Given the description of an element on the screen output the (x, y) to click on. 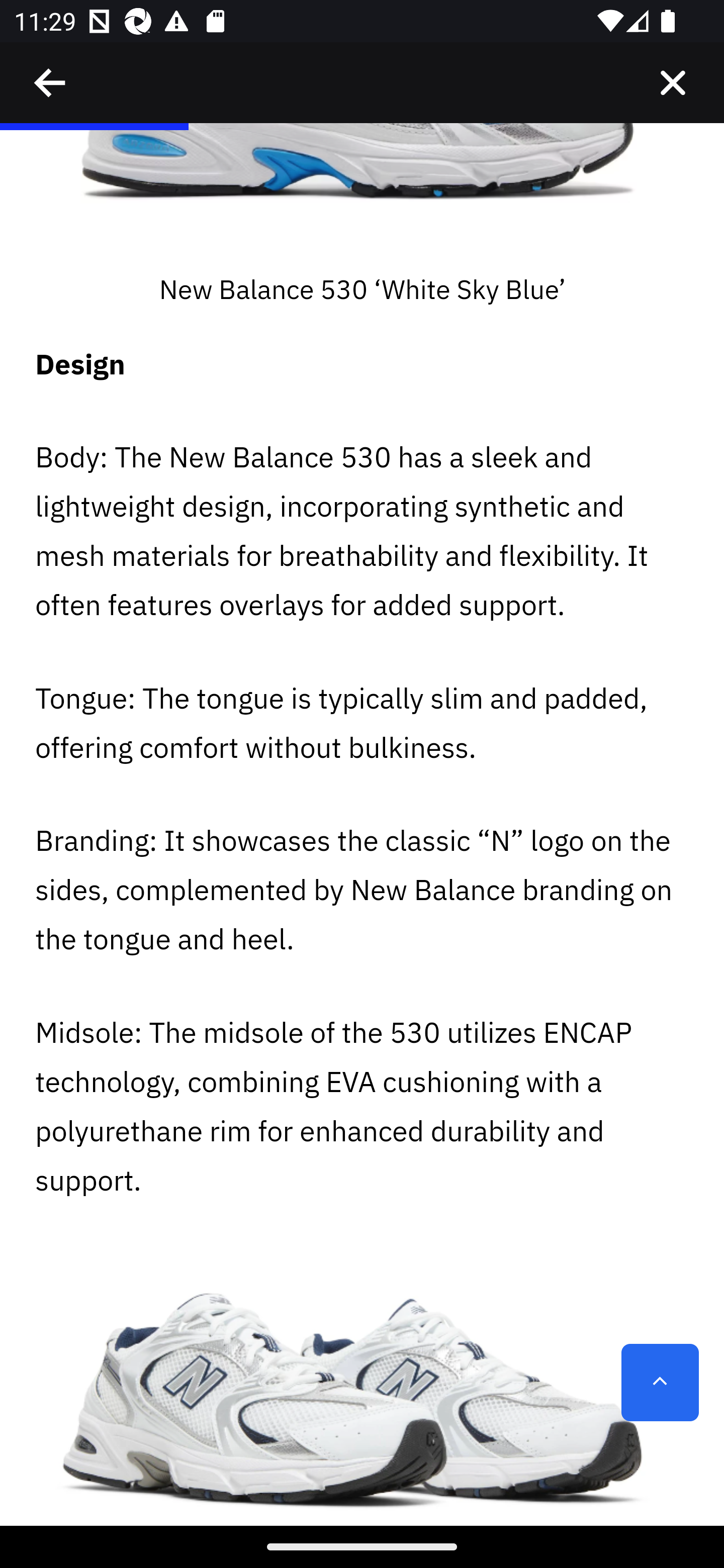
 (50, 83)
 (672, 83)
Scroll to top  (659, 1382)
